Given the description of an element on the screen output the (x, y) to click on. 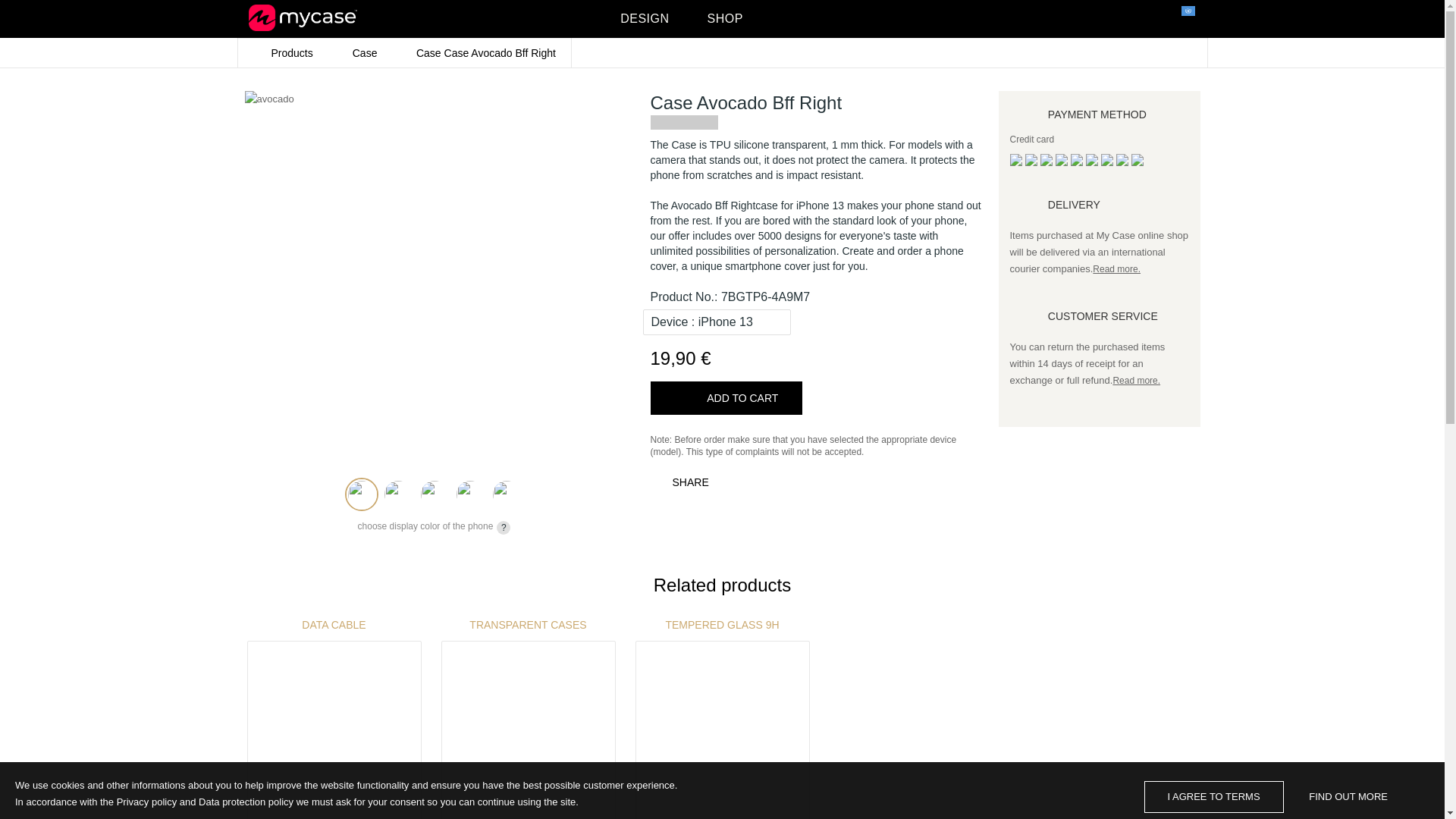
Red Hot (469, 494)
SHOP (724, 18)
Blue (432, 494)
DESIGN (644, 18)
Case (366, 52)
Black (397, 494)
Rose Gold (361, 494)
White (505, 494)
Case Case Avocado Bff Right (486, 52)
